Given the description of an element on the screen output the (x, y) to click on. 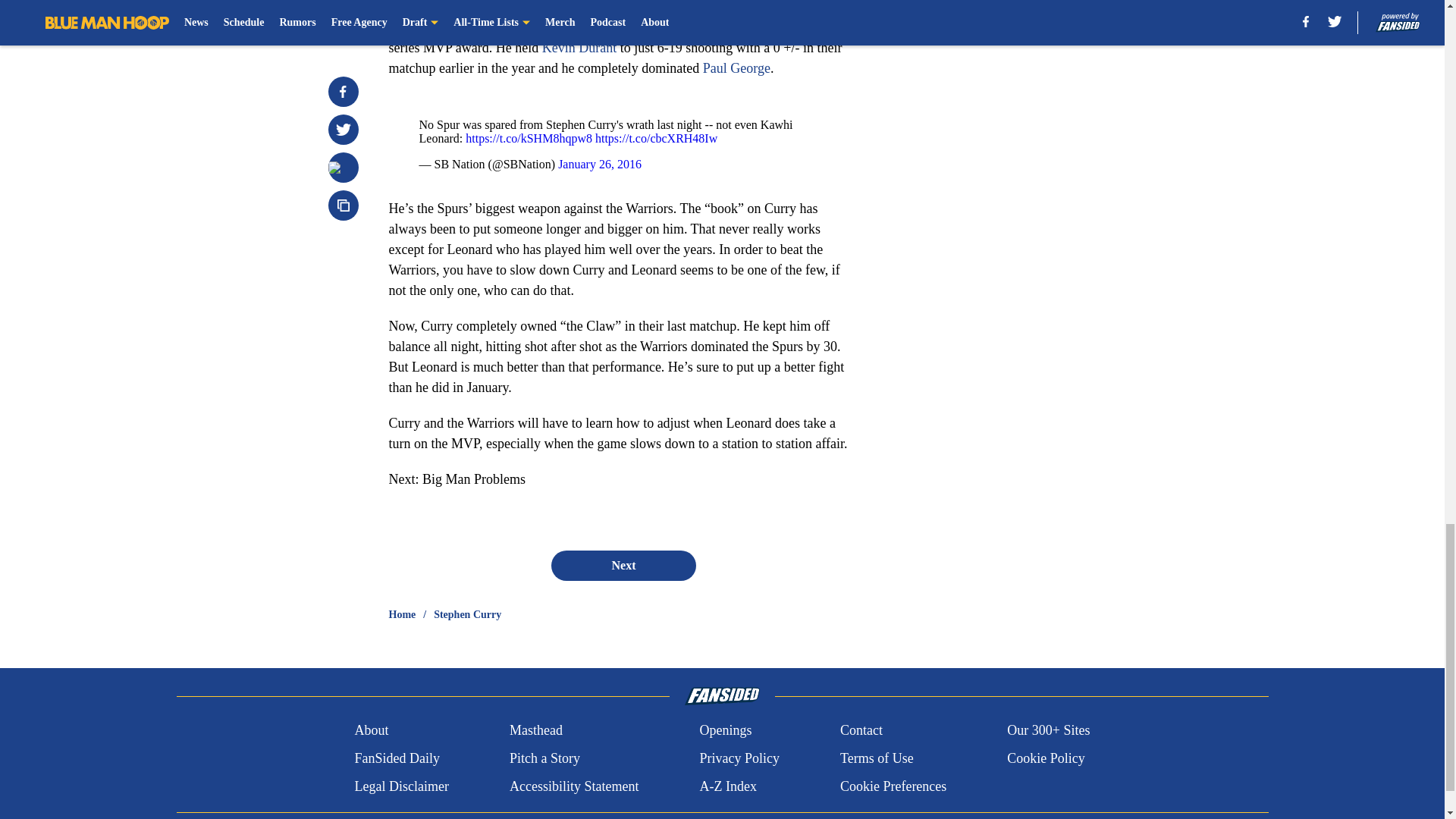
LeBron James (559, 27)
January 26, 2016 (599, 164)
Kevin Durant (578, 47)
Paul George (736, 68)
Next (622, 565)
